Given the description of an element on the screen output the (x, y) to click on. 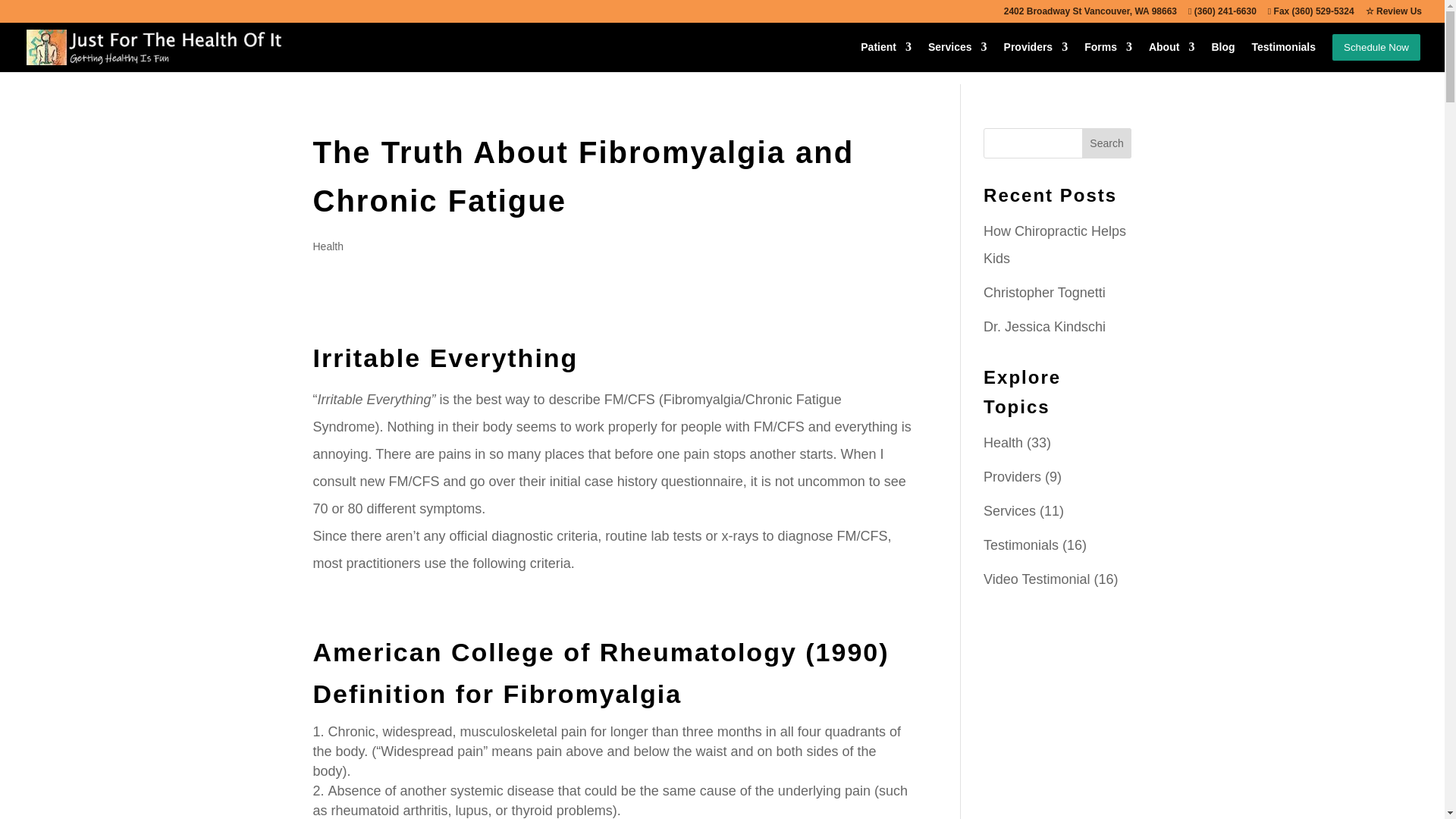
Patient (885, 52)
Services (957, 52)
2402 Broadway St Vancouver, WA 98663 (1090, 14)
Providers (1036, 52)
Search (1106, 142)
